Given the description of an element on the screen output the (x, y) to click on. 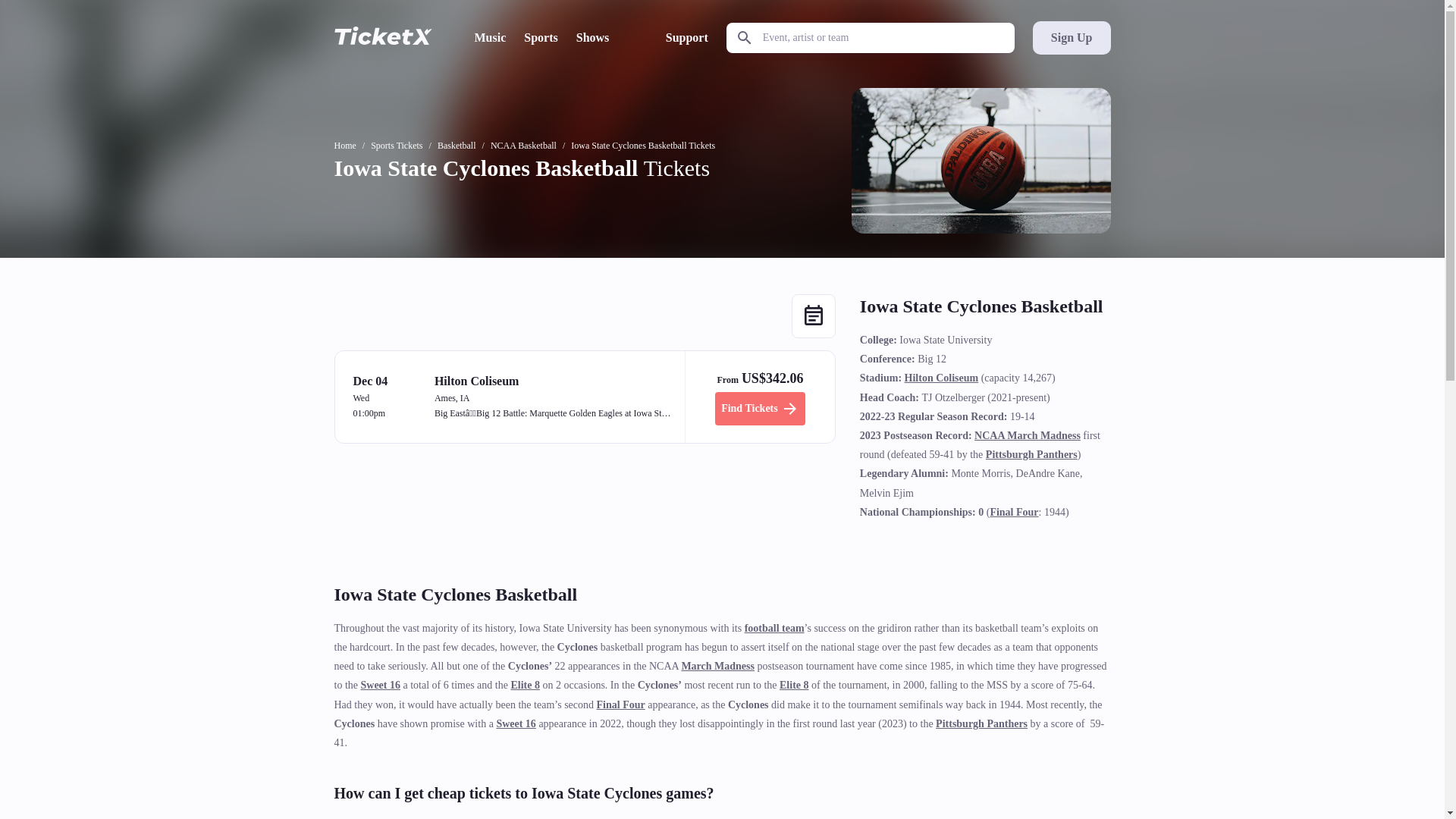
Basketball (457, 145)
Home (344, 145)
Hilton Coliseum (941, 378)
Music (490, 37)
Sweet 16 (381, 685)
Sweet 16 (515, 723)
Elite 8 (525, 685)
Support (686, 37)
Event, artist or team (870, 37)
March Madness (717, 665)
Pittsburgh Panthers (1031, 454)
Final Four (1014, 511)
Sign Up (1071, 37)
Shows (593, 37)
Sports Tickets (396, 145)
